Given the description of an element on the screen output the (x, y) to click on. 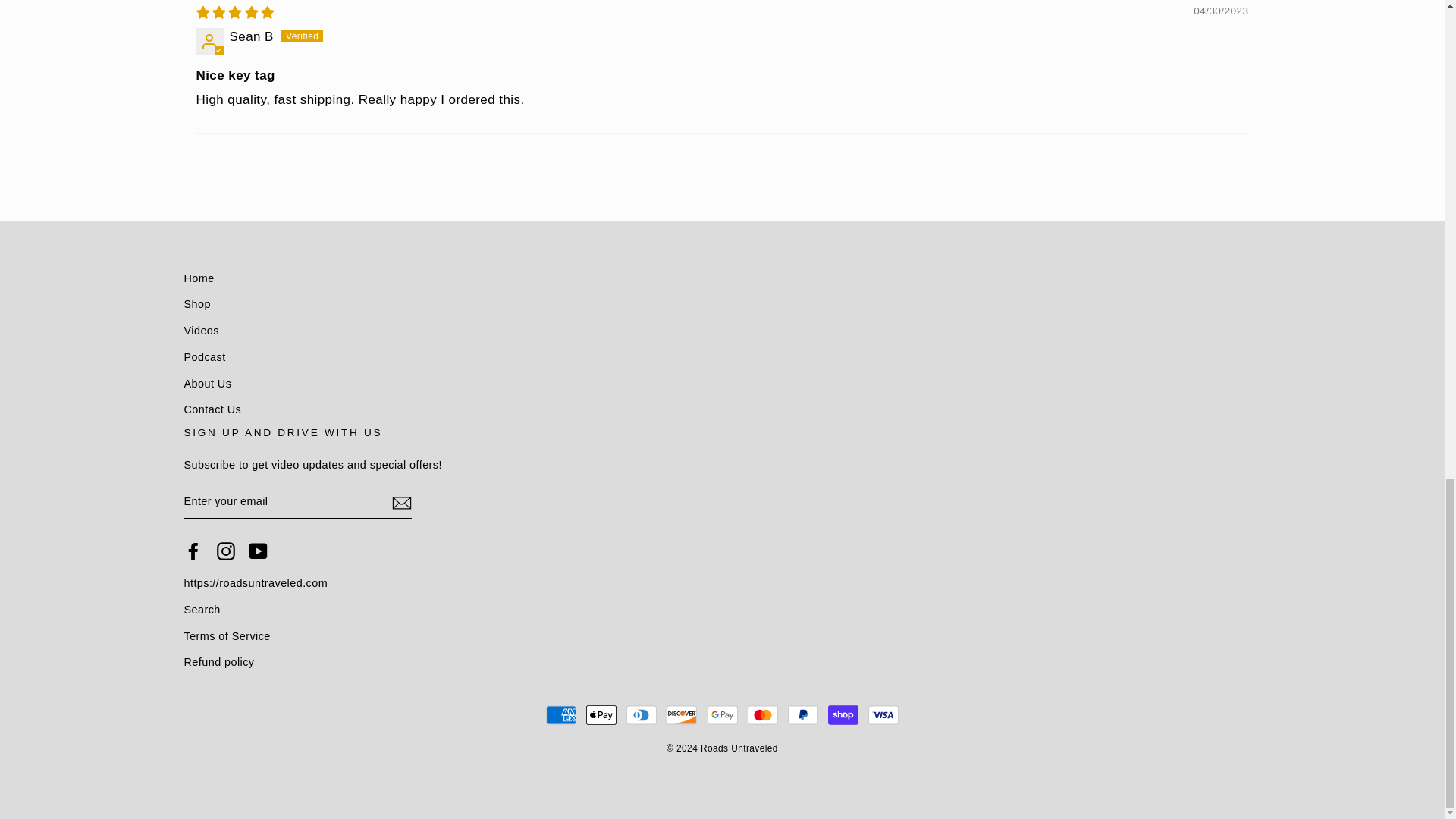
Roads Untraveled on Facebook (192, 551)
Diners Club (641, 715)
American Express (561, 715)
Roads Untraveled on Instagram (225, 551)
PayPal (802, 715)
Apple Pay (600, 715)
Roads Untraveled on YouTube (257, 551)
Discover (681, 715)
Mastercard (762, 715)
Google Pay (721, 715)
